Given the description of an element on the screen output the (x, y) to click on. 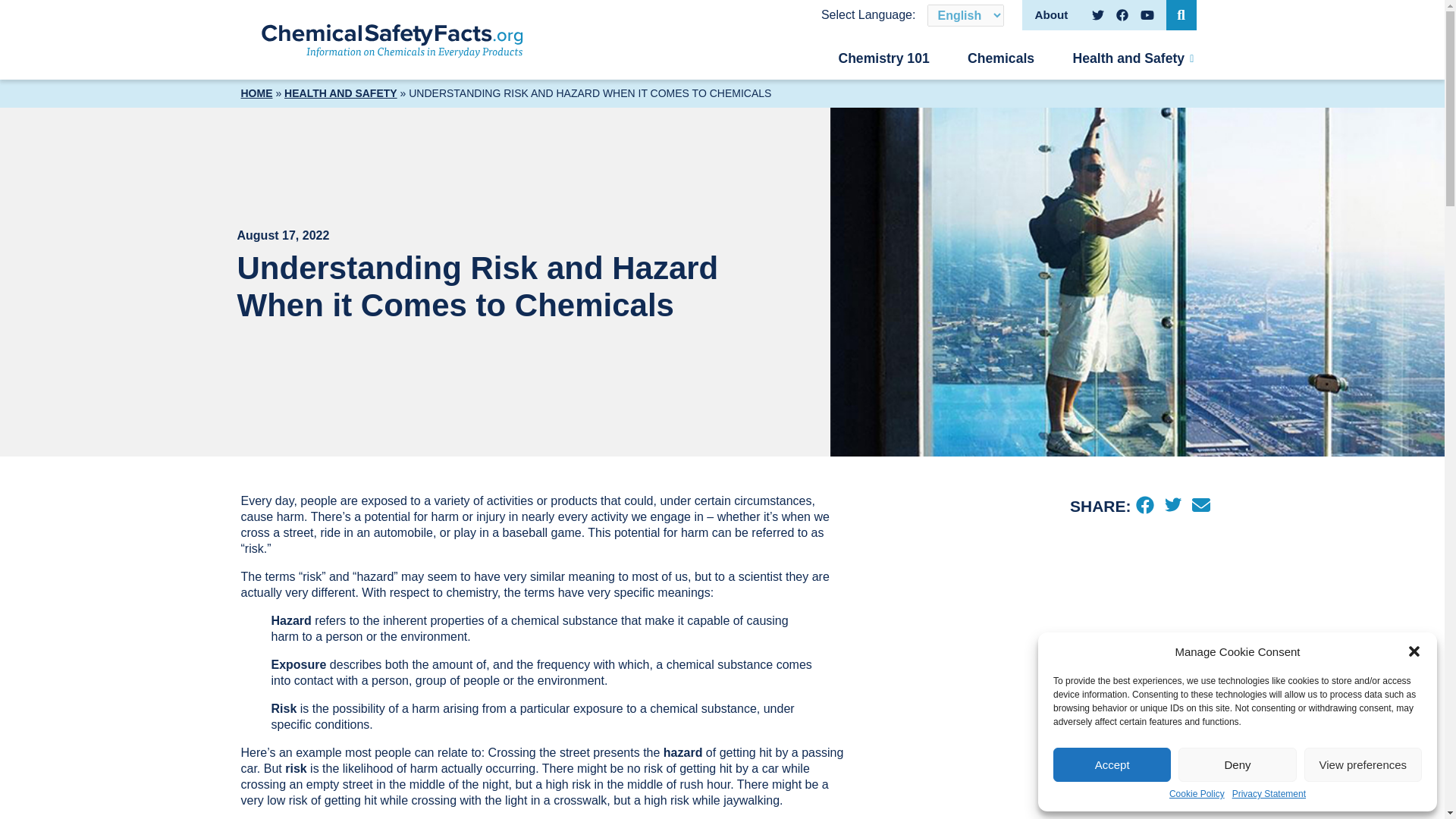
Cookie Policy (1196, 794)
View preferences (1363, 764)
Chemistry 101 (883, 58)
Chemicals (1000, 58)
Deny (1236, 764)
About (1050, 14)
Privacy Statement (1268, 794)
Open Search (1181, 15)
Accept (1111, 764)
Health and Safety (1133, 58)
